Given the description of an element on the screen output the (x, y) to click on. 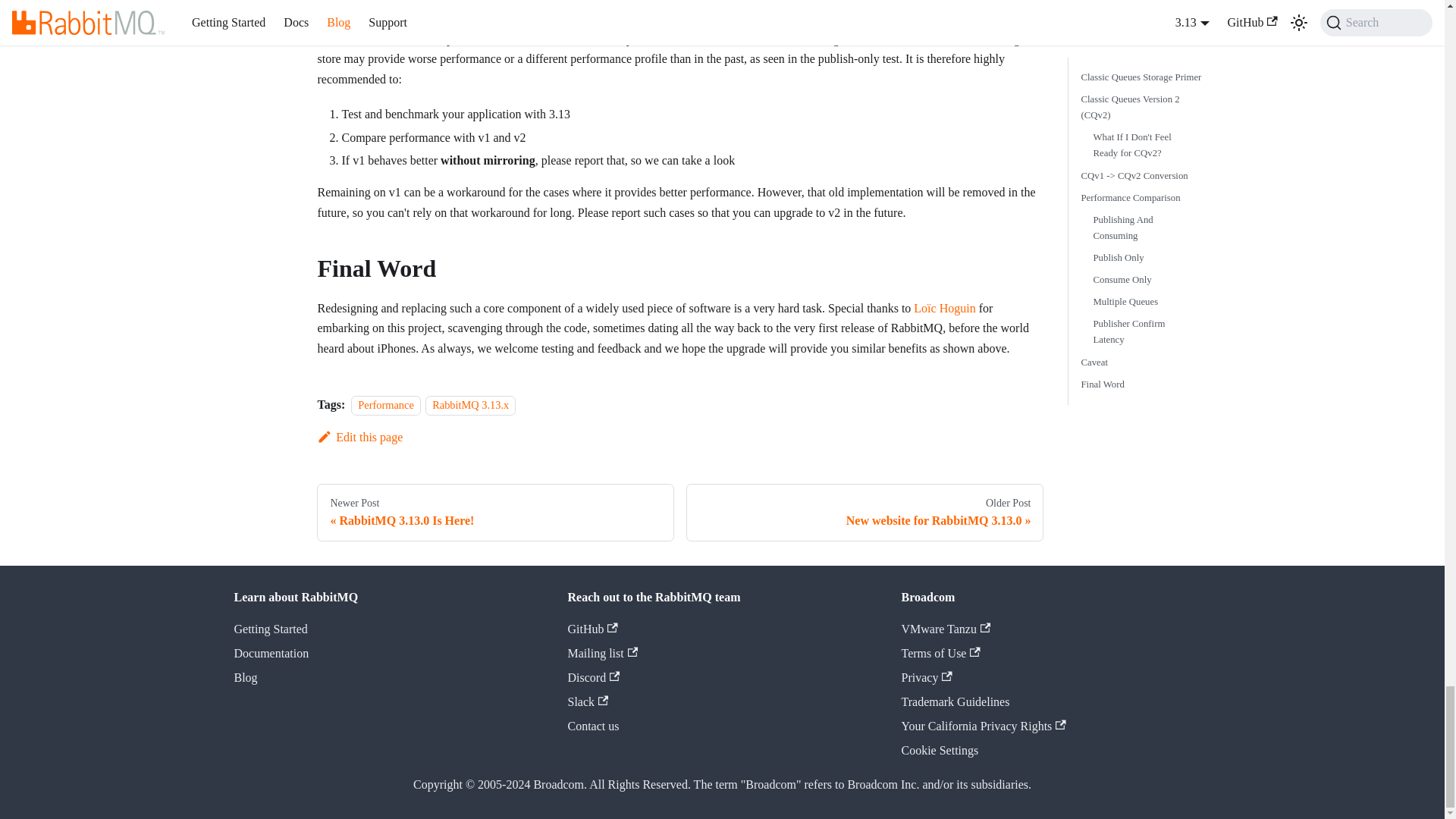
Performance (385, 405)
